Given the description of an element on the screen output the (x, y) to click on. 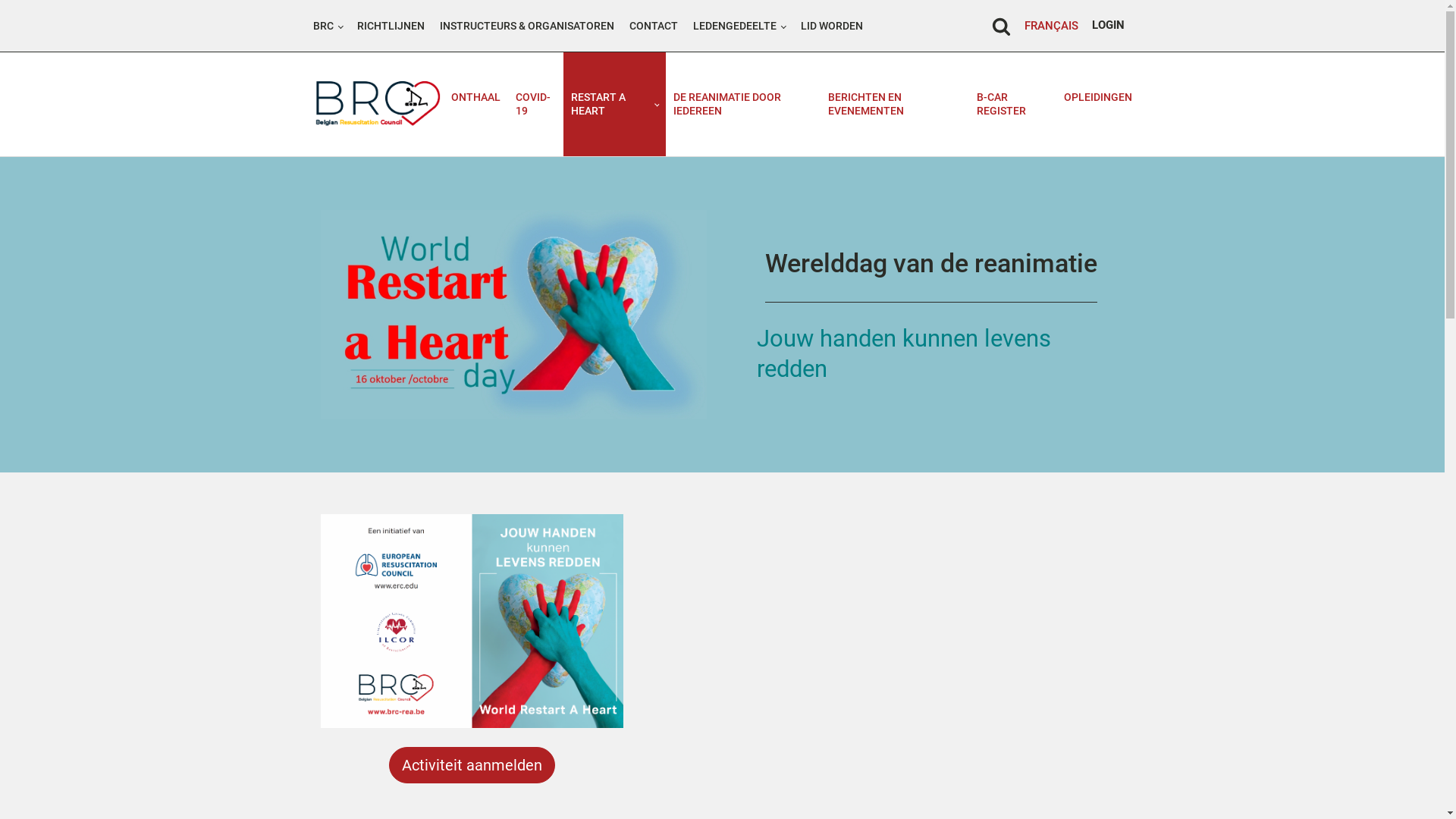
LEDENGEDEELTE Element type: text (739, 25)
LOGIN Element type: text (1108, 25)
INSTRUCTEURS & ORGANISATOREN Element type: text (526, 25)
ONTHAAL Element type: text (475, 96)
RESTART A HEART Element type: text (614, 103)
LID WORDEN Element type: text (831, 25)
DE REANIMATIE DOOR IEDEREEN Element type: text (742, 103)
B-CAR REGISTER Element type: text (1012, 103)
BRC Element type: text (326, 25)
BERICHTEN EN EVENEMENTEN Element type: text (894, 103)
COVID-19 Element type: text (535, 103)
Activiteit aanmelden Element type: text (472, 764)
CONTACT Element type: text (653, 25)
OPLEIDINGEN Element type: text (1097, 96)
RICHTLIJNEN Element type: text (390, 25)
Zoeken Element type: text (30, 12)
